Given the description of an element on the screen output the (x, y) to click on. 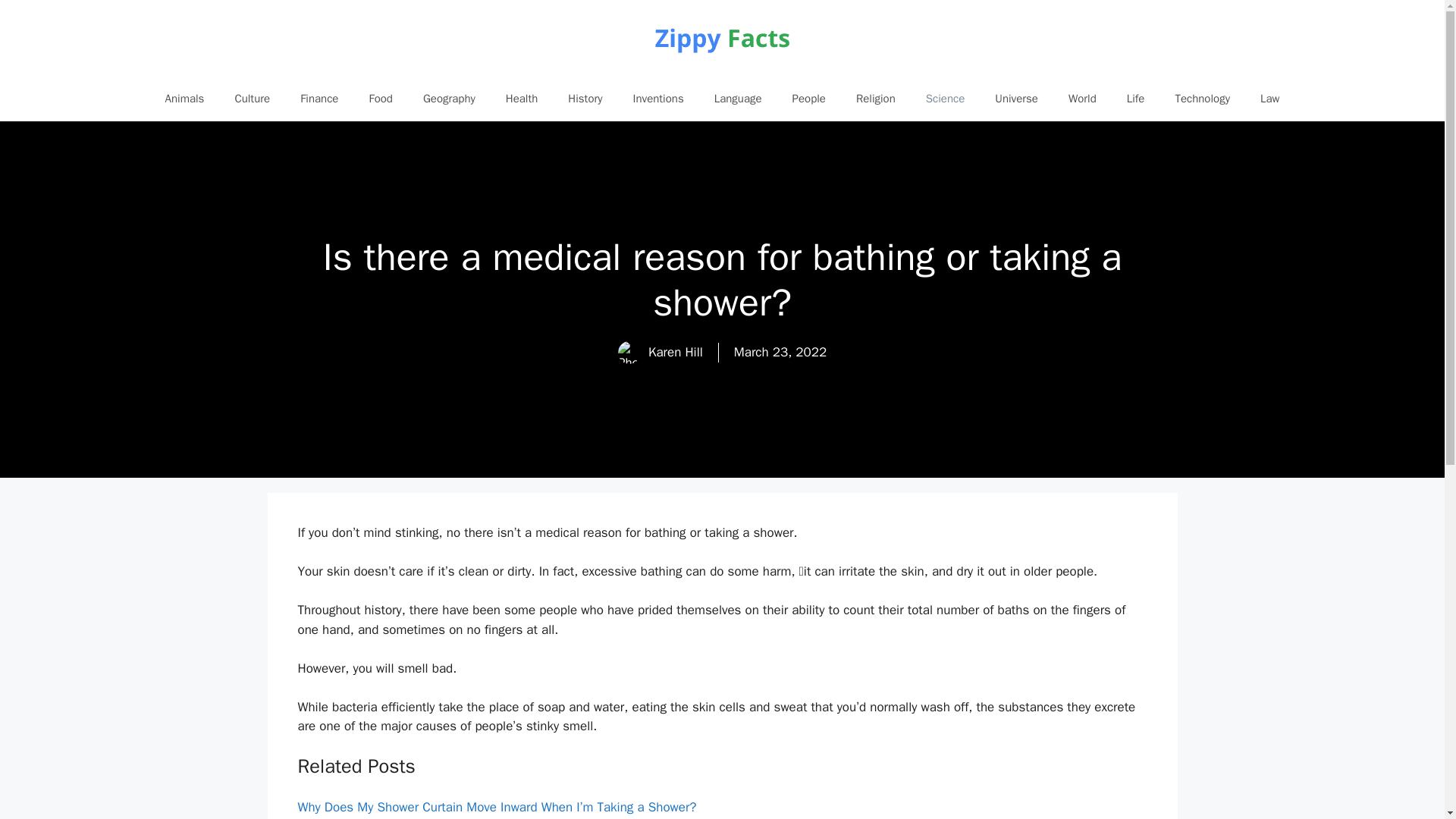
Inventions (657, 98)
Culture (252, 98)
Life (1136, 98)
People (809, 98)
Language (737, 98)
Animals (184, 98)
Religion (876, 98)
Technology (1201, 98)
Food (380, 98)
Geography (448, 98)
